Given the description of an element on the screen output the (x, y) to click on. 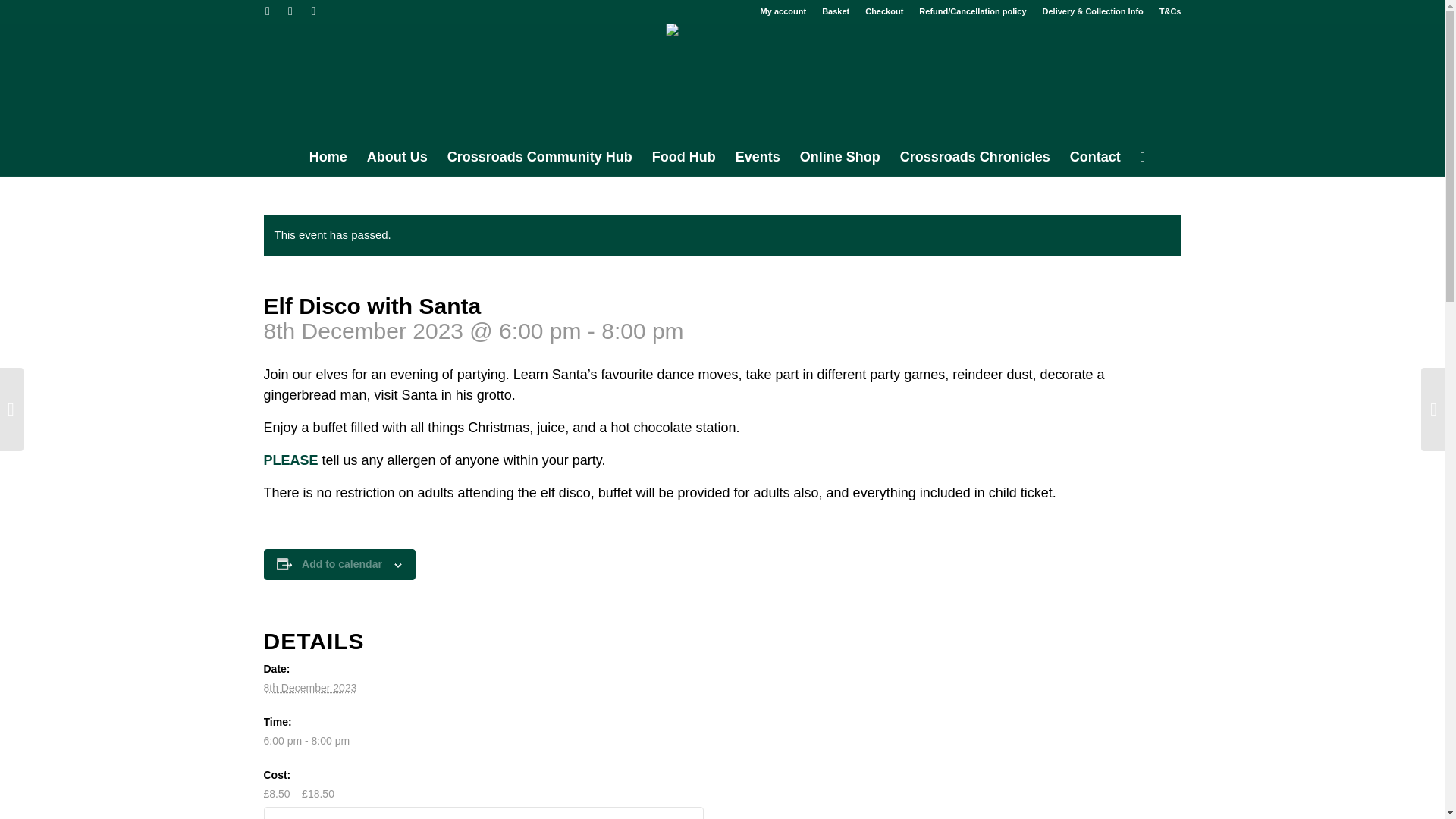
Instagram (312, 11)
2023-12-08 (309, 687)
Add to calendar (341, 563)
Basket (835, 11)
Checkout (883, 11)
Home (327, 157)
Online Shop (839, 157)
About Us (397, 157)
2023-12-08 (713, 741)
My account (783, 11)
Facebook (290, 11)
Food Hub (683, 157)
Twitter (267, 11)
Crossroads Community Hub (540, 157)
Crossroads Chronicles (974, 157)
